Given the description of an element on the screen output the (x, y) to click on. 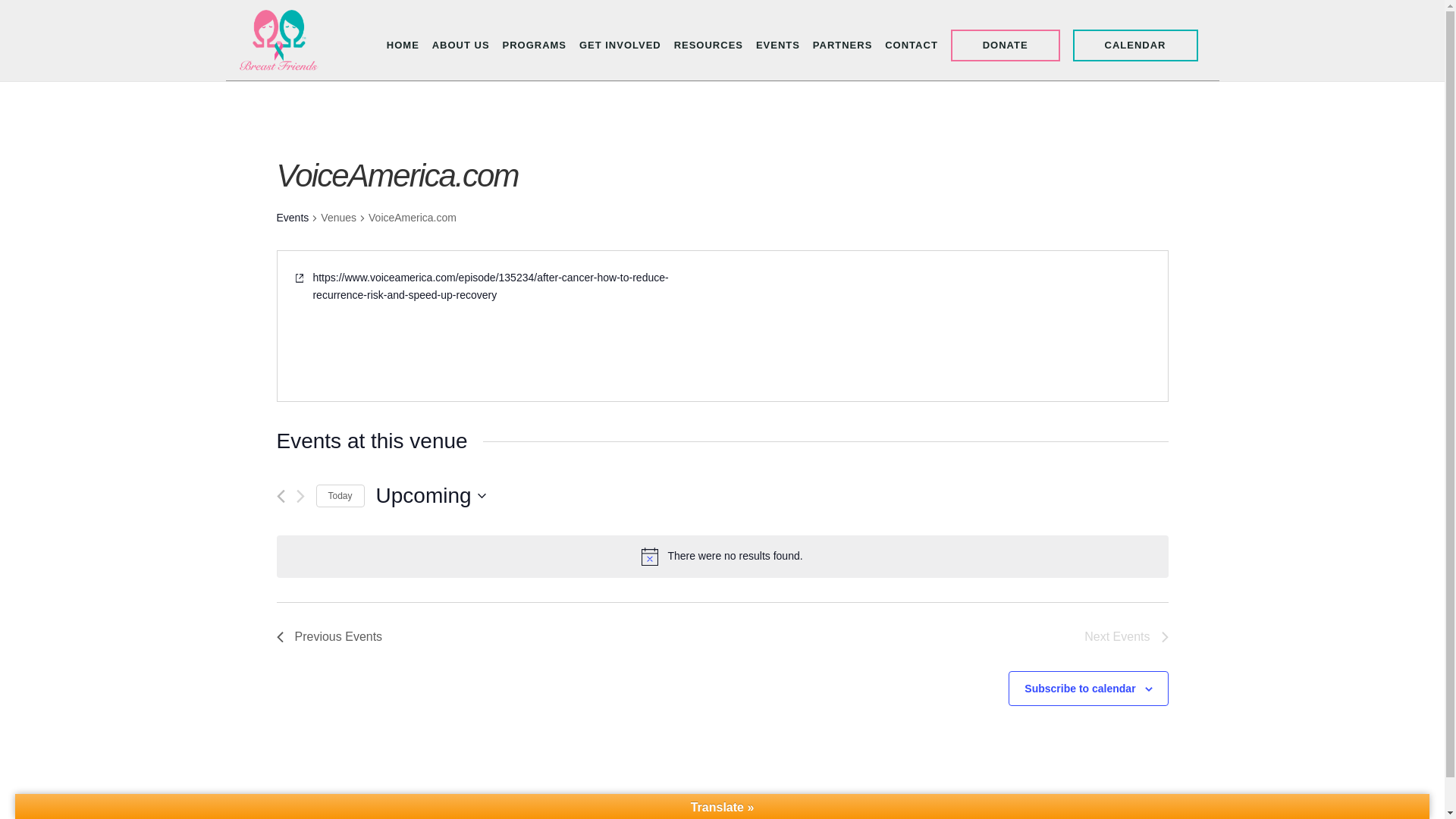
ABOUT US (460, 45)
Today (339, 495)
Upcoming (430, 495)
Next Events (1125, 637)
Events (292, 218)
EVENTS (777, 45)
Click to select today's date (339, 495)
Next Events (1125, 637)
RESOURCES (708, 45)
PROGRAMS (534, 45)
GET INVOLVED (620, 45)
Subscribe to calendar (1080, 688)
Previous Events (328, 637)
DONATE (1004, 44)
CALENDAR (1135, 44)
